Given the description of an element on the screen output the (x, y) to click on. 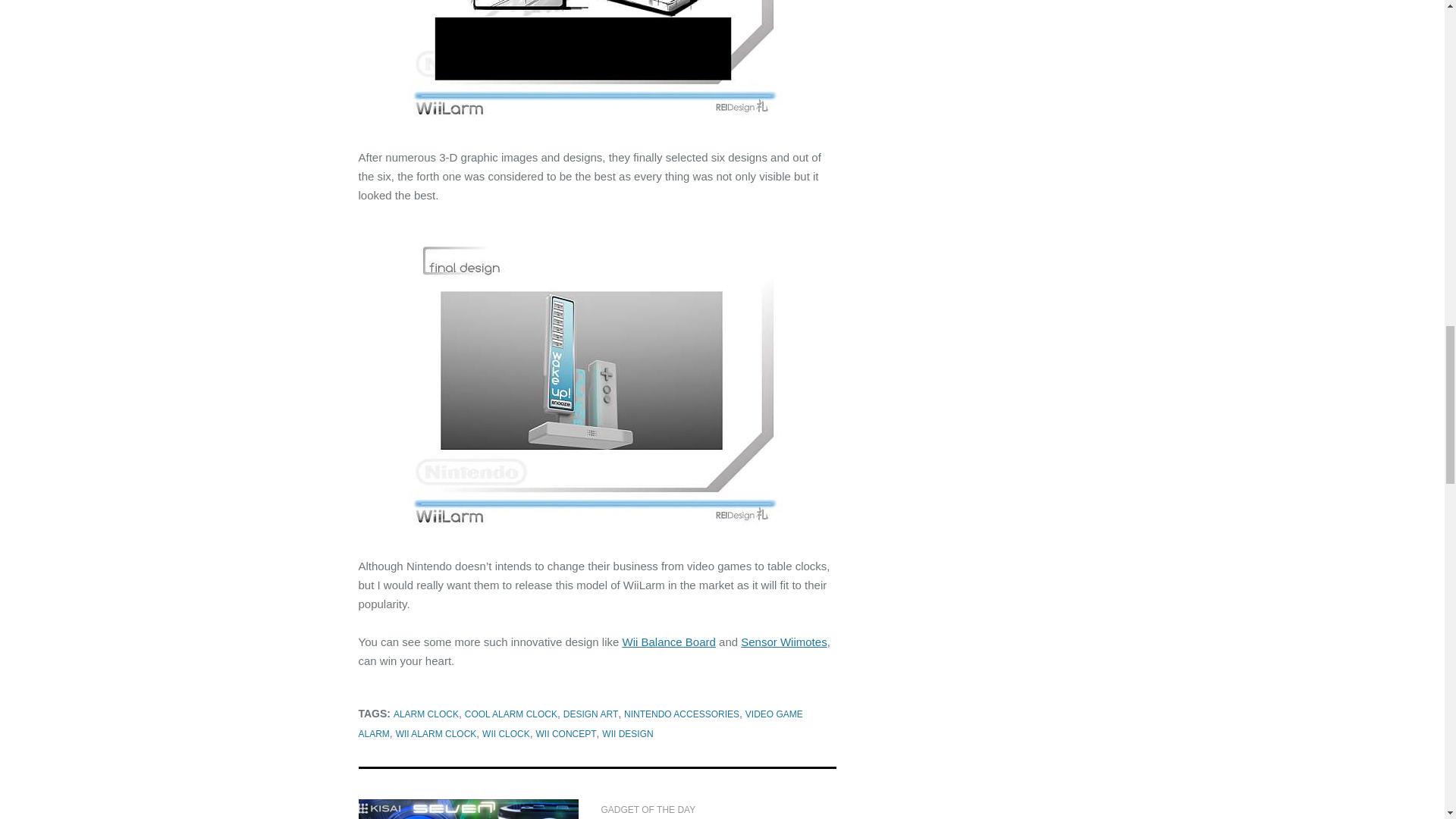
DESIGN ART (590, 714)
Sensor Wiimotes (784, 641)
WII CONCEPT (565, 733)
COOL ALARM CLOCK (510, 714)
ALARM CLOCK (425, 714)
Wii Balance Board (667, 641)
Sensor Wiimotes (784, 641)
Wii Balance Board (667, 641)
WII CLOCK (505, 733)
VIDEO GAME ALARM (580, 724)
